Given the description of an element on the screen output the (x, y) to click on. 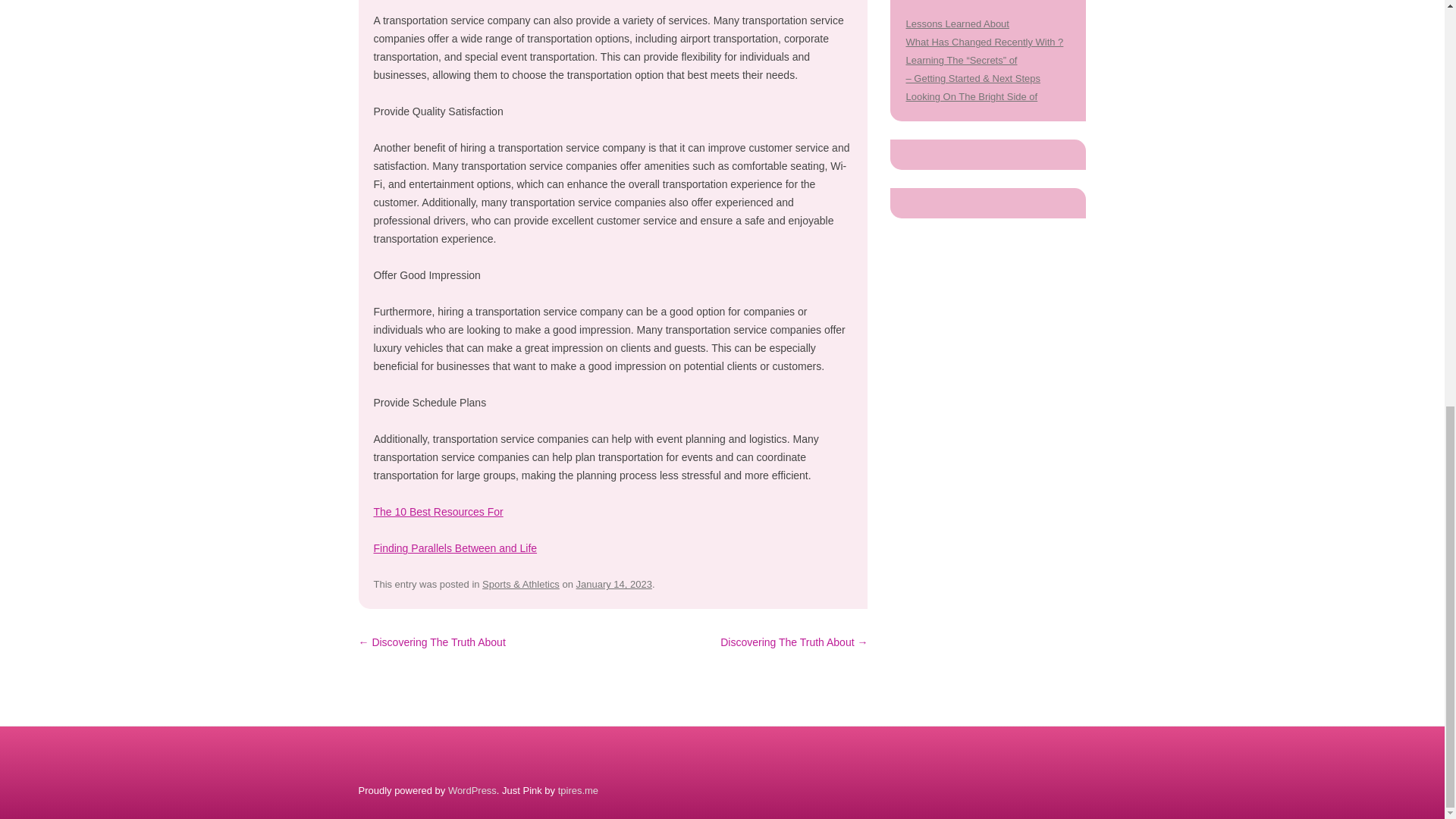
Lessons Learned About (957, 23)
8:00 pm (614, 583)
Finding Parallels Between and Life (454, 548)
The 10 Best Resources For (437, 511)
Semantic Personal Publishing Platform (472, 790)
January 14, 2023 (614, 583)
What Has Changed Recently With ? (983, 41)
